Given the description of an element on the screen output the (x, y) to click on. 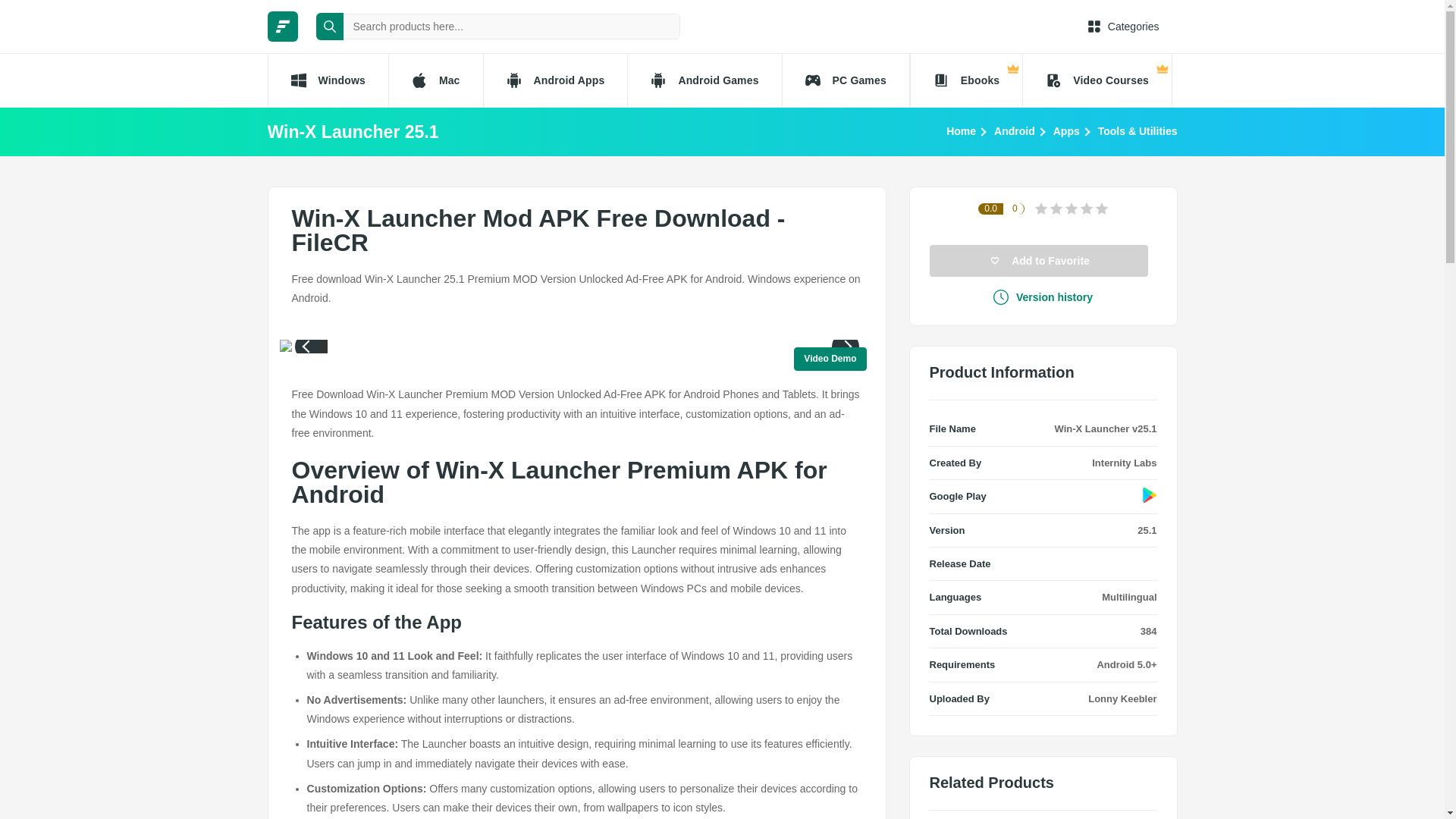
Android (1014, 131)
Windows (326, 80)
PC Games (845, 80)
Video Demo (829, 359)
Home (960, 131)
Android Games (703, 80)
Apps (1066, 131)
Categories (1122, 26)
Version history (1042, 297)
Mac (435, 80)
Android Apps (555, 80)
Add to Favorite (1039, 260)
Internity Labs (1124, 462)
